Given the description of an element on the screen output the (x, y) to click on. 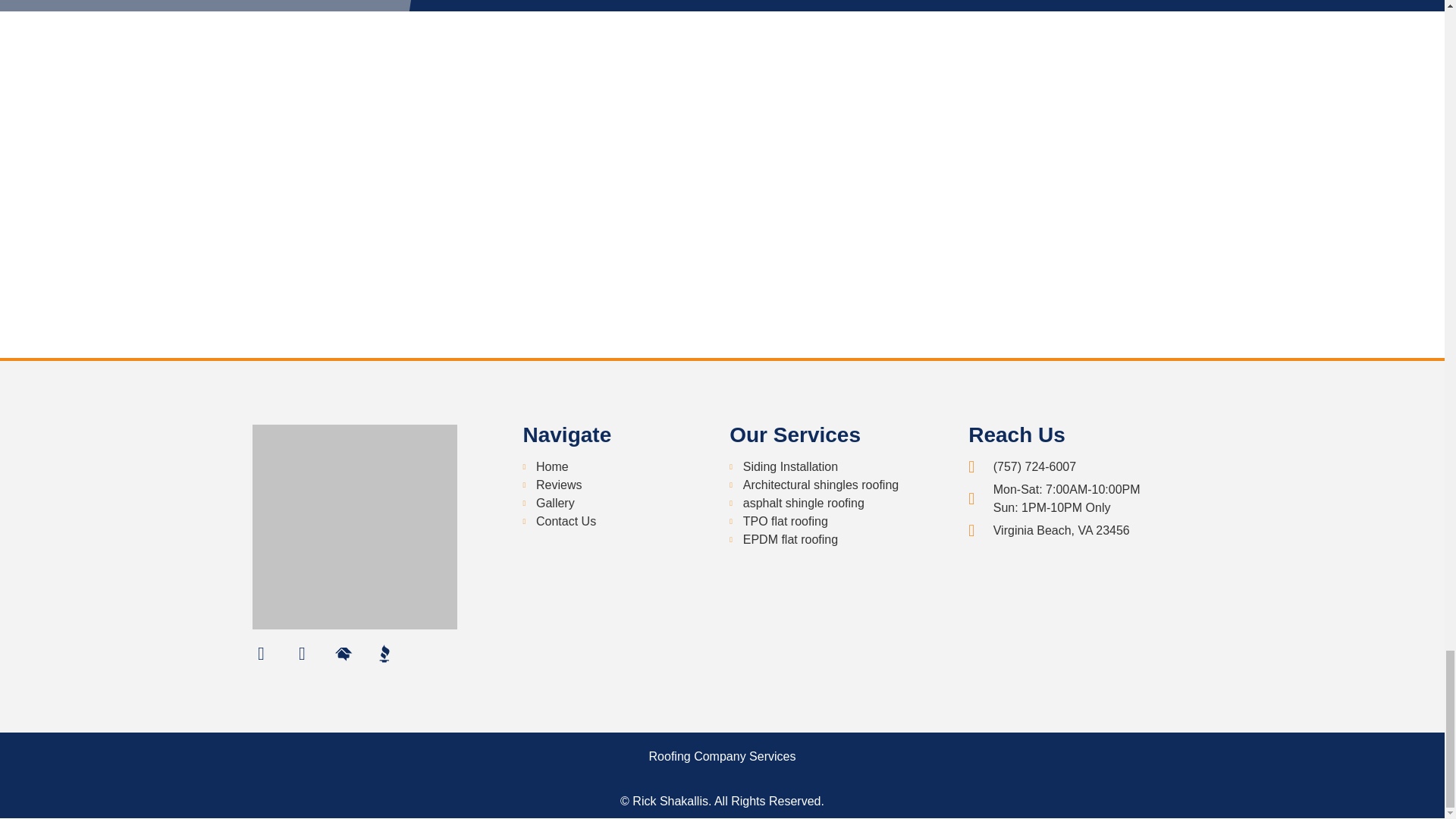
Home 14 (240, 5)
